Given the description of an element on the screen output the (x, y) to click on. 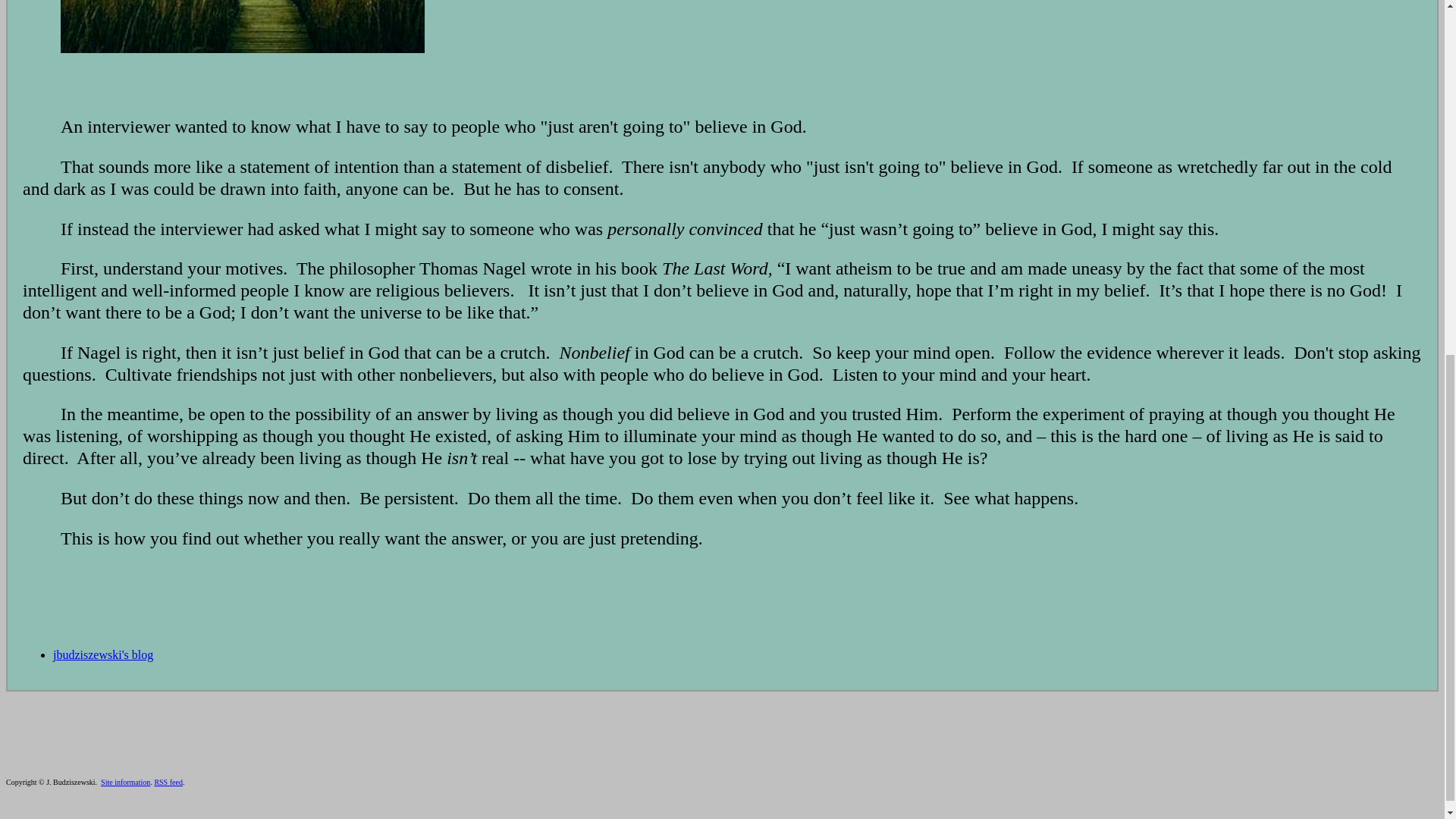
RSS feed (168, 782)
Read jbudziszewski's latest blog entries. (102, 654)
Site information (124, 782)
jbudziszewski's blog (102, 654)
